Given the description of an element on the screen output the (x, y) to click on. 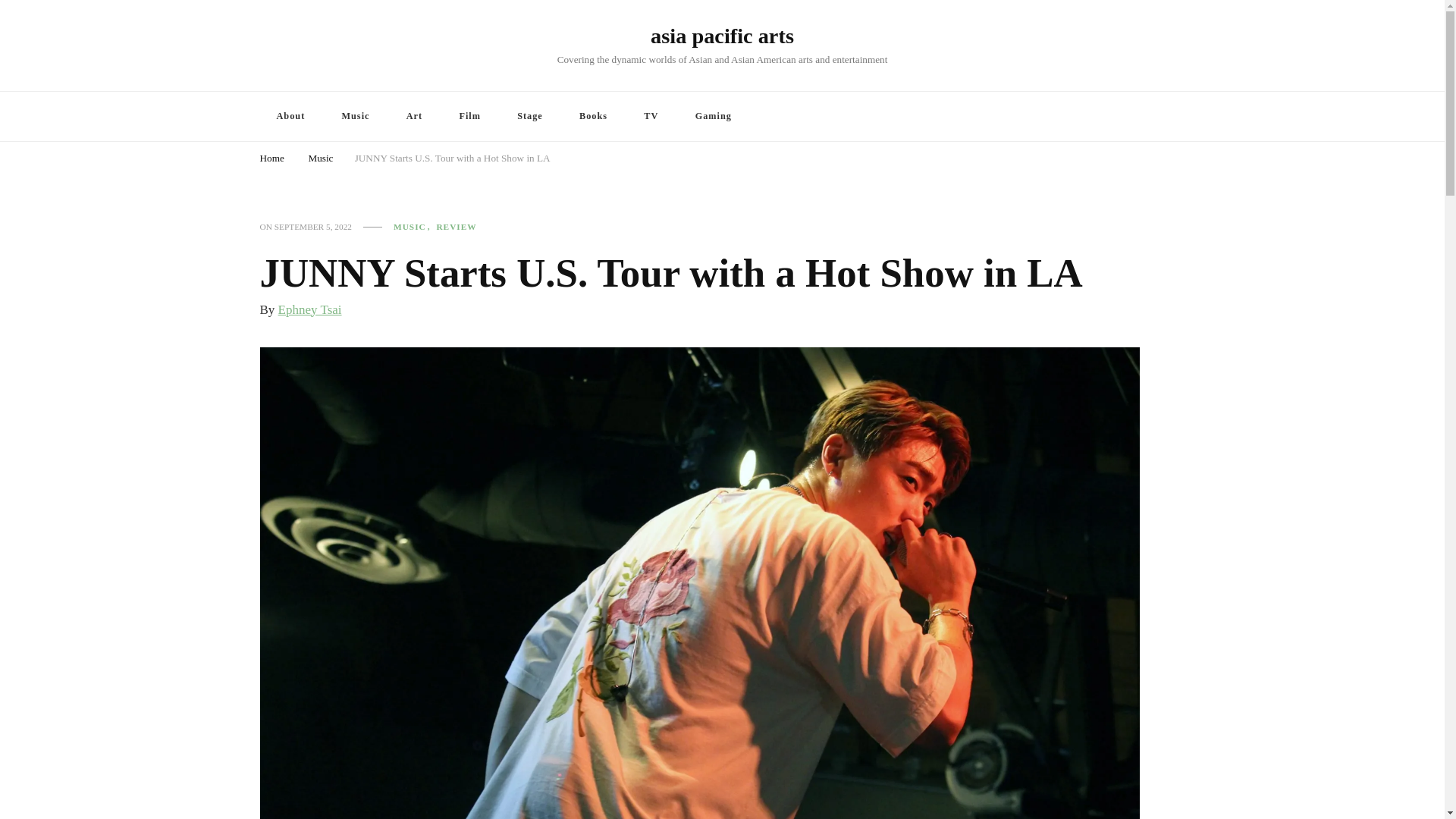
Music (354, 115)
REVIEW (455, 226)
Search (1148, 118)
Music (320, 159)
Film (469, 115)
Posts by Ephney Tsai (310, 309)
Gaming (713, 115)
Ephney Tsai (310, 309)
SEPTEMBER 5, 2022 (313, 226)
Books (593, 115)
